Given the description of an element on the screen output the (x, y) to click on. 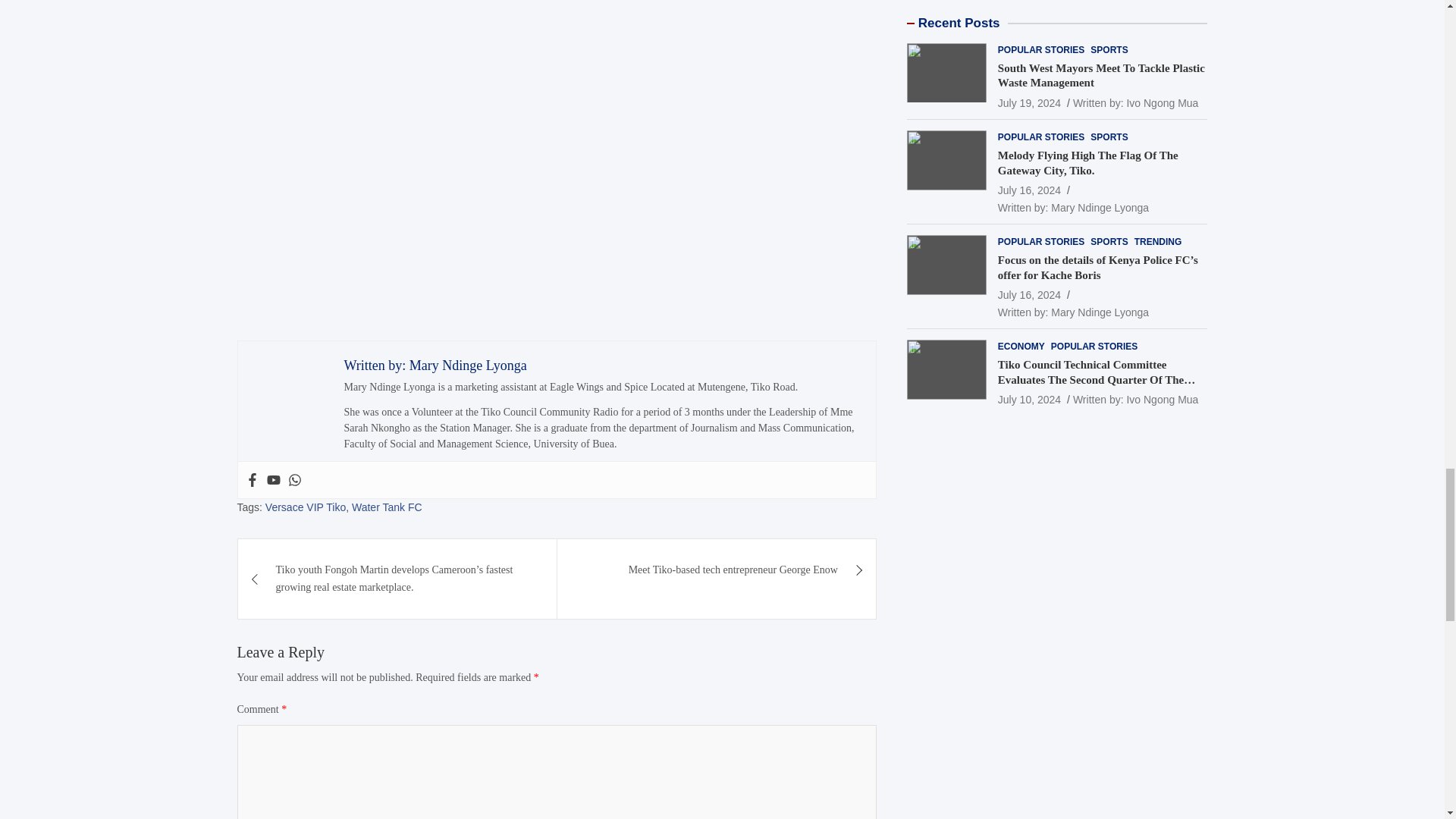
Facebook (252, 479)
Whatsapp (294, 479)
Youtube (273, 479)
